Given the description of an element on the screen output the (x, y) to click on. 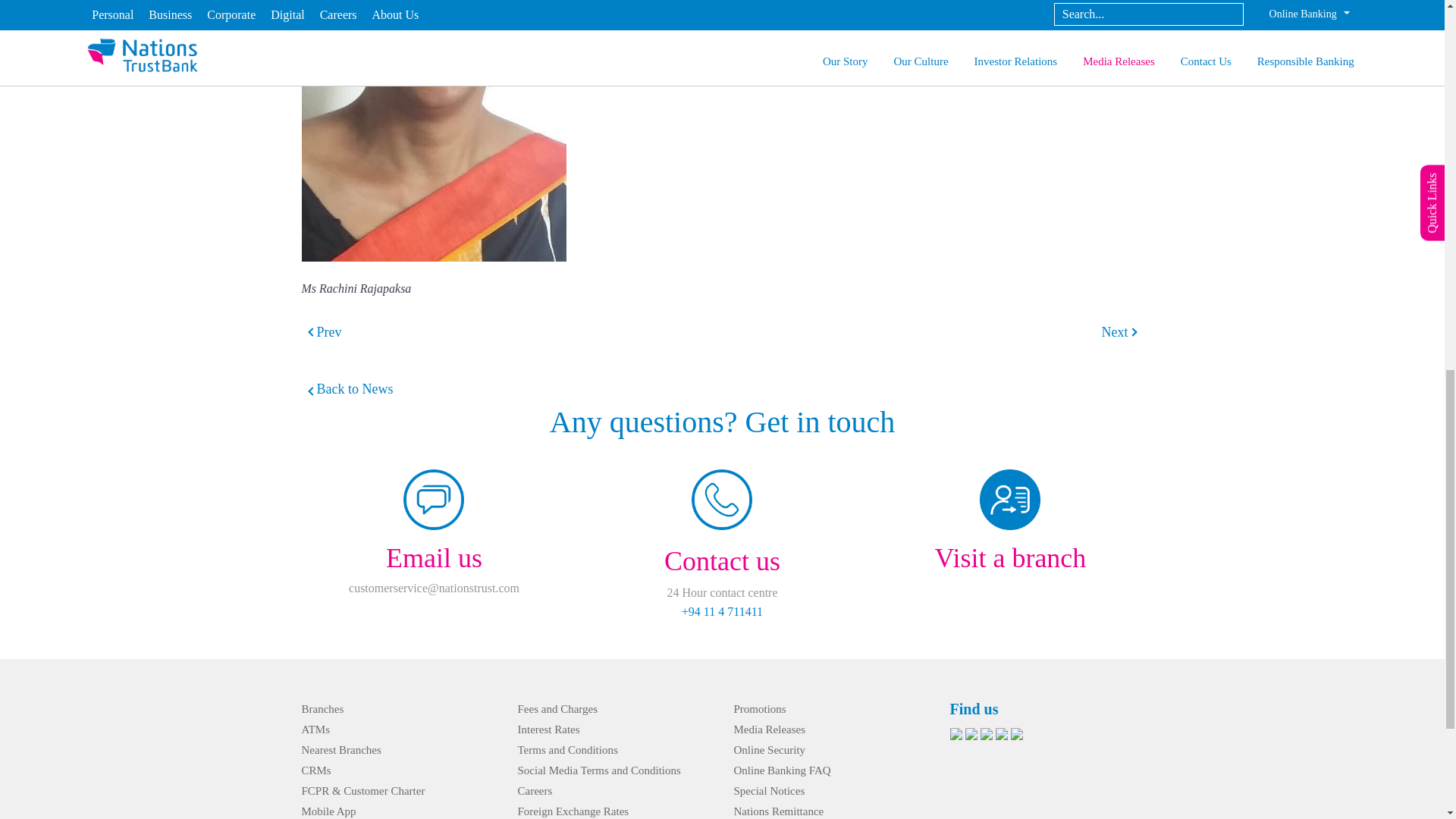
Careers (533, 790)
Prev (328, 332)
Back to News (347, 388)
Terms and Conditions (566, 749)
ATMs (315, 729)
Contact us (721, 560)
Branches (322, 708)
Nearest Branches (341, 749)
Fees and Charges (556, 708)
Foreign Exchange Rates (572, 811)
Next (1114, 332)
Interest Rates (547, 729)
Mobile App (328, 811)
Social Media Terms and Conditions (597, 770)
CRMs (316, 770)
